Given the description of an element on the screen output the (x, y) to click on. 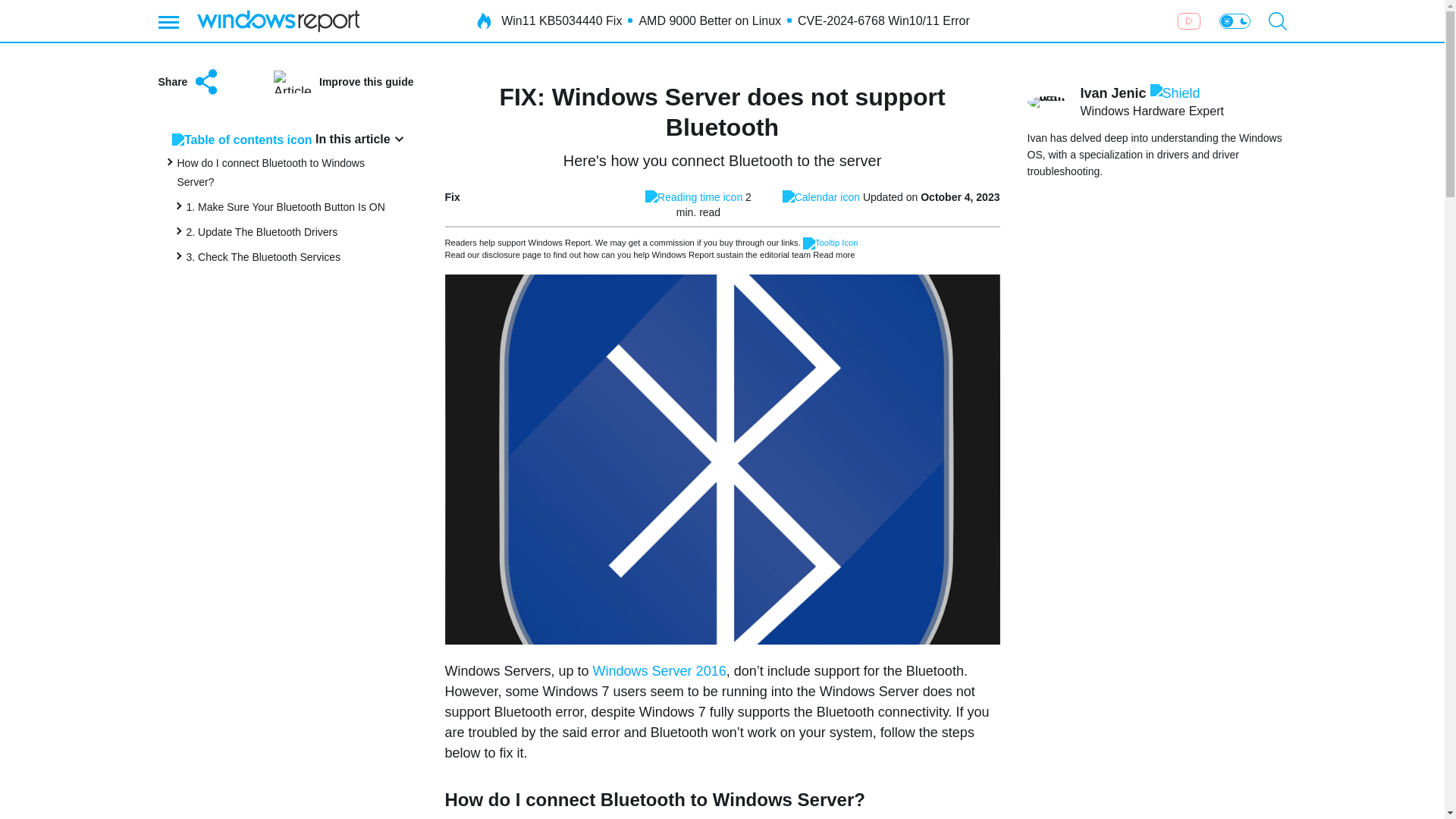
2. Update The Bluetooth Drivers (261, 232)
Open search bar (1276, 21)
Share (189, 81)
3. Check The Bluetooth Services (263, 256)
Win11 KB5034440 Fix (560, 21)
Share this article (189, 81)
AMD 9000 Better on Linux (709, 21)
How do I connect Bluetooth to Windows Server? (271, 172)
Fix (452, 196)
1. Make Sure Your Bluetooth Button Is ON (285, 206)
